Given the description of an element on the screen output the (x, y) to click on. 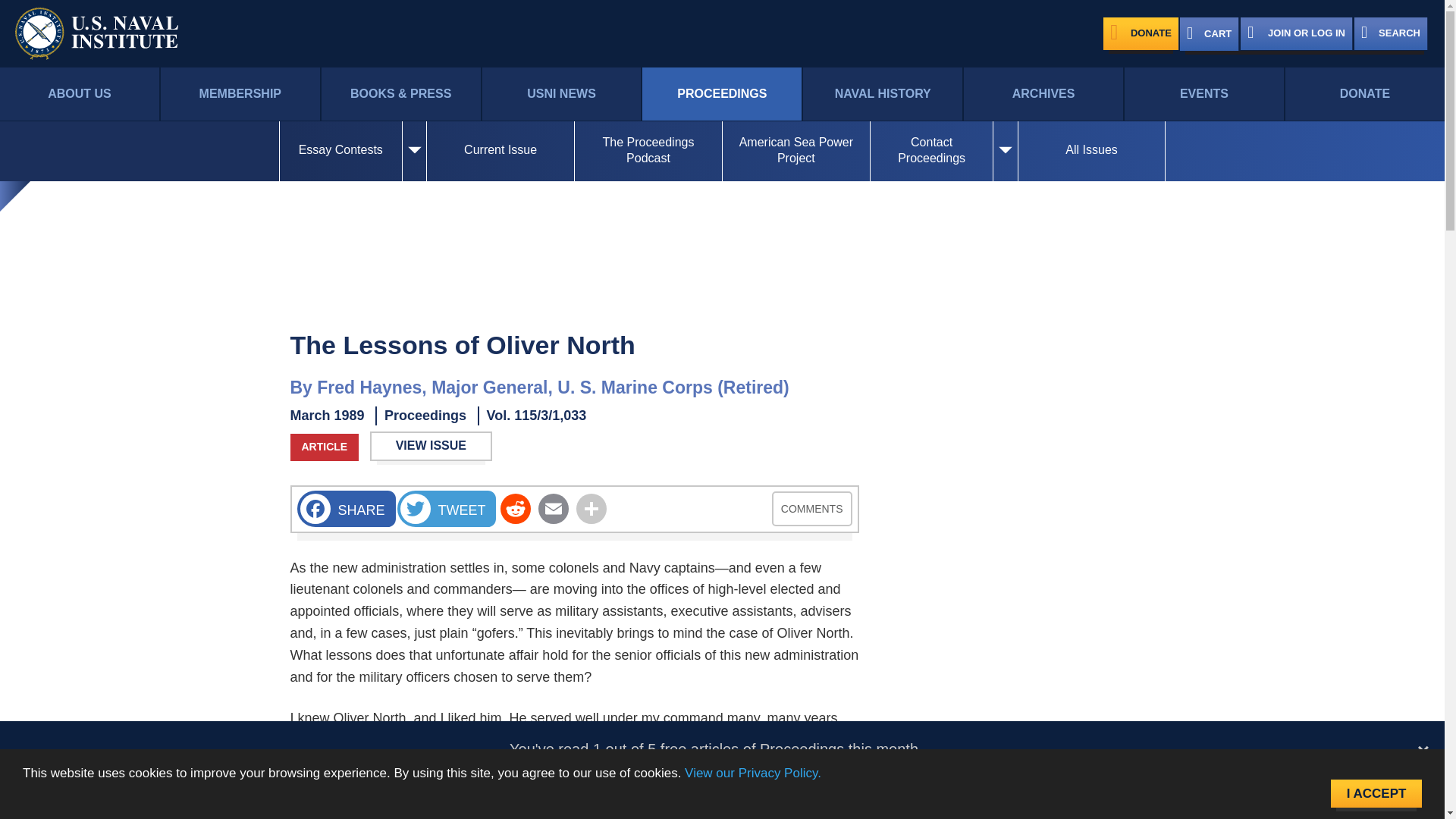
Current Issue of Proceedings (499, 150)
ABOUT US (79, 94)
ARCHIVES (1042, 94)
3rd party ad content (1017, 421)
JOIN OR LOG IN (1296, 33)
USNI NEWS (561, 94)
NAVAL HISTORY (882, 94)
PROCEEDINGS (722, 94)
CART (1209, 33)
3rd party ad content (1017, 635)
SEARCH (1391, 33)
3rd party ad content (721, 236)
3rd party ad content (1017, 786)
DONATE (1364, 94)
DONATE (1141, 33)
